Given the description of an element on the screen output the (x, y) to click on. 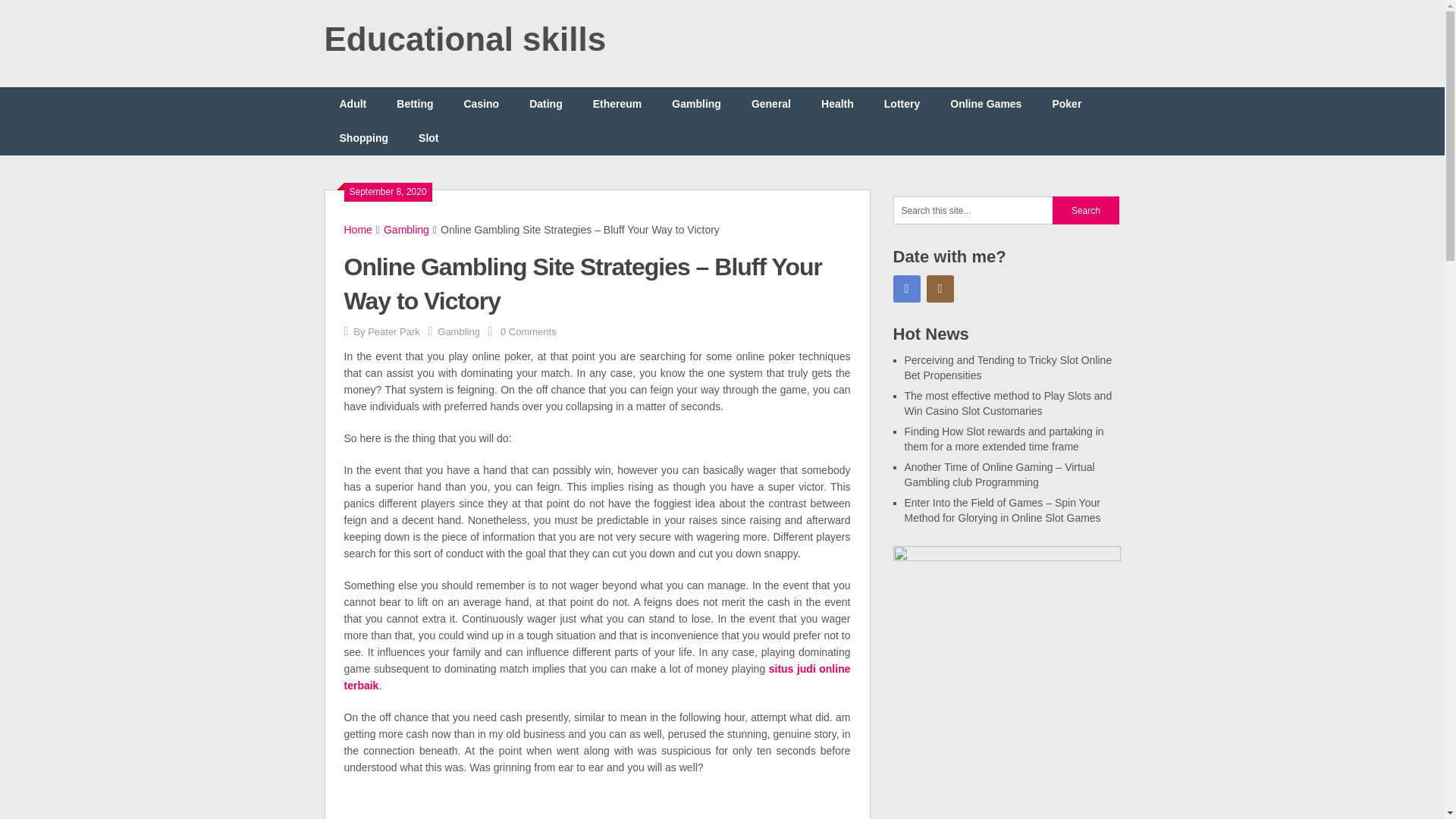
Gambling (459, 331)
Betting (414, 103)
Search (1085, 210)
Facebook (906, 288)
situs judi online terbaik (596, 676)
Instagram (939, 288)
Health (837, 103)
Adult (352, 103)
